Given the description of an element on the screen output the (x, y) to click on. 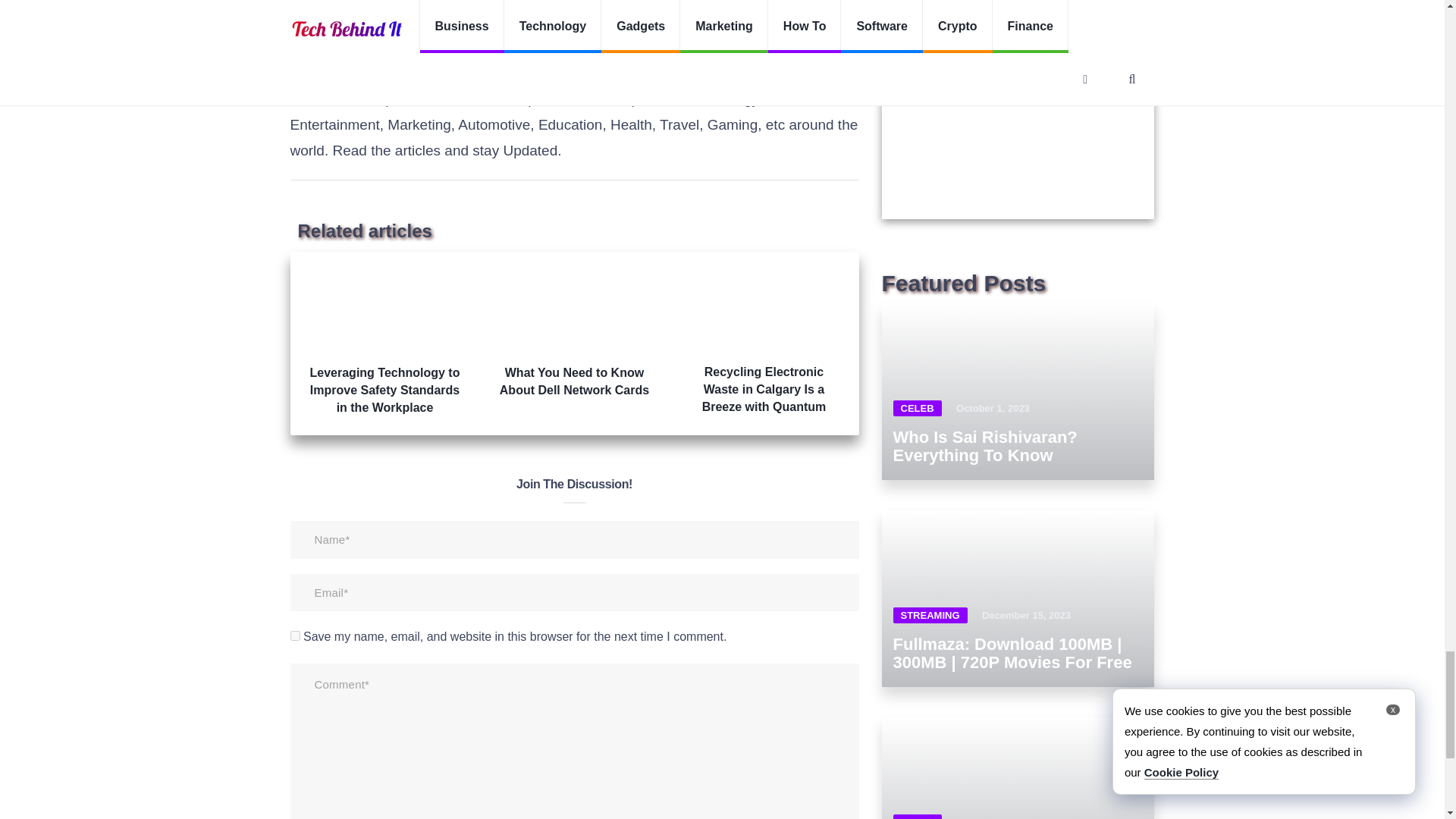
What You Need to Know About Dell Network Cards (574, 330)
yes (294, 635)
